Given the description of an element on the screen output the (x, y) to click on. 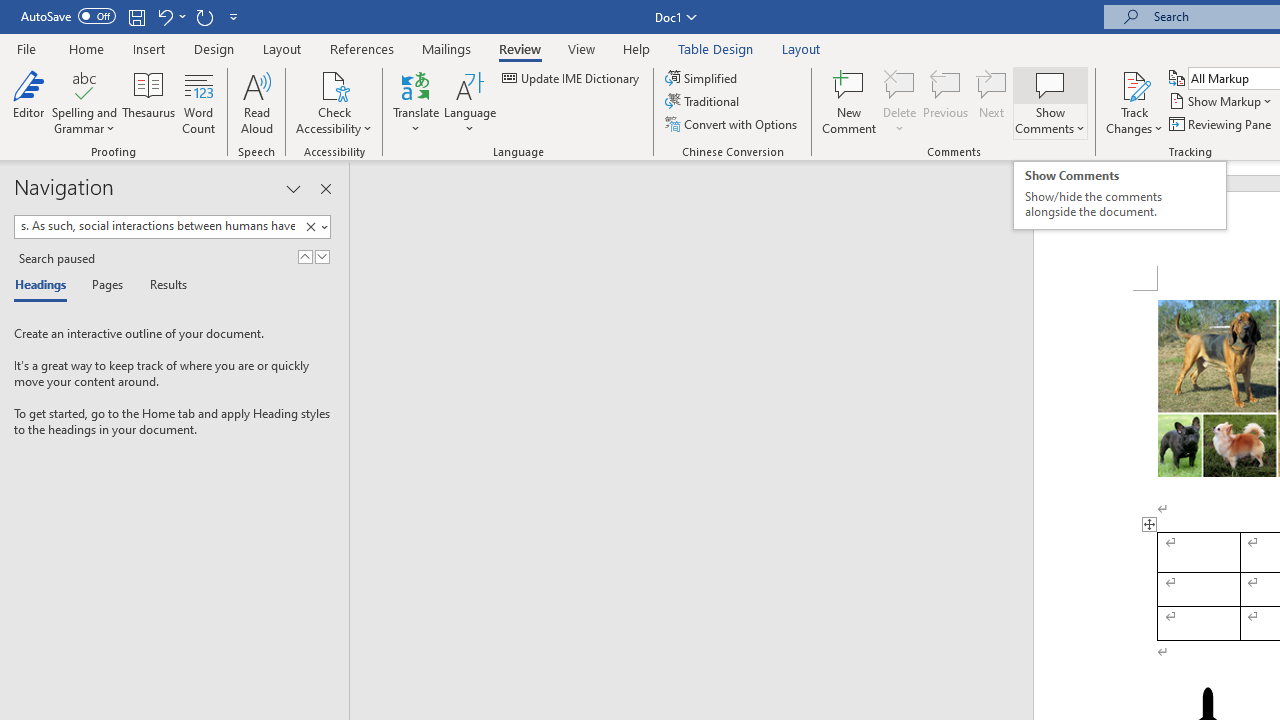
Undo Style (170, 15)
Show Markup (1222, 101)
Clear (310, 227)
Check Accessibility (334, 84)
Previous (946, 102)
Reviewing Pane (1221, 124)
Clear (314, 227)
Convert with Options... (732, 124)
